Given the description of an element on the screen output the (x, y) to click on. 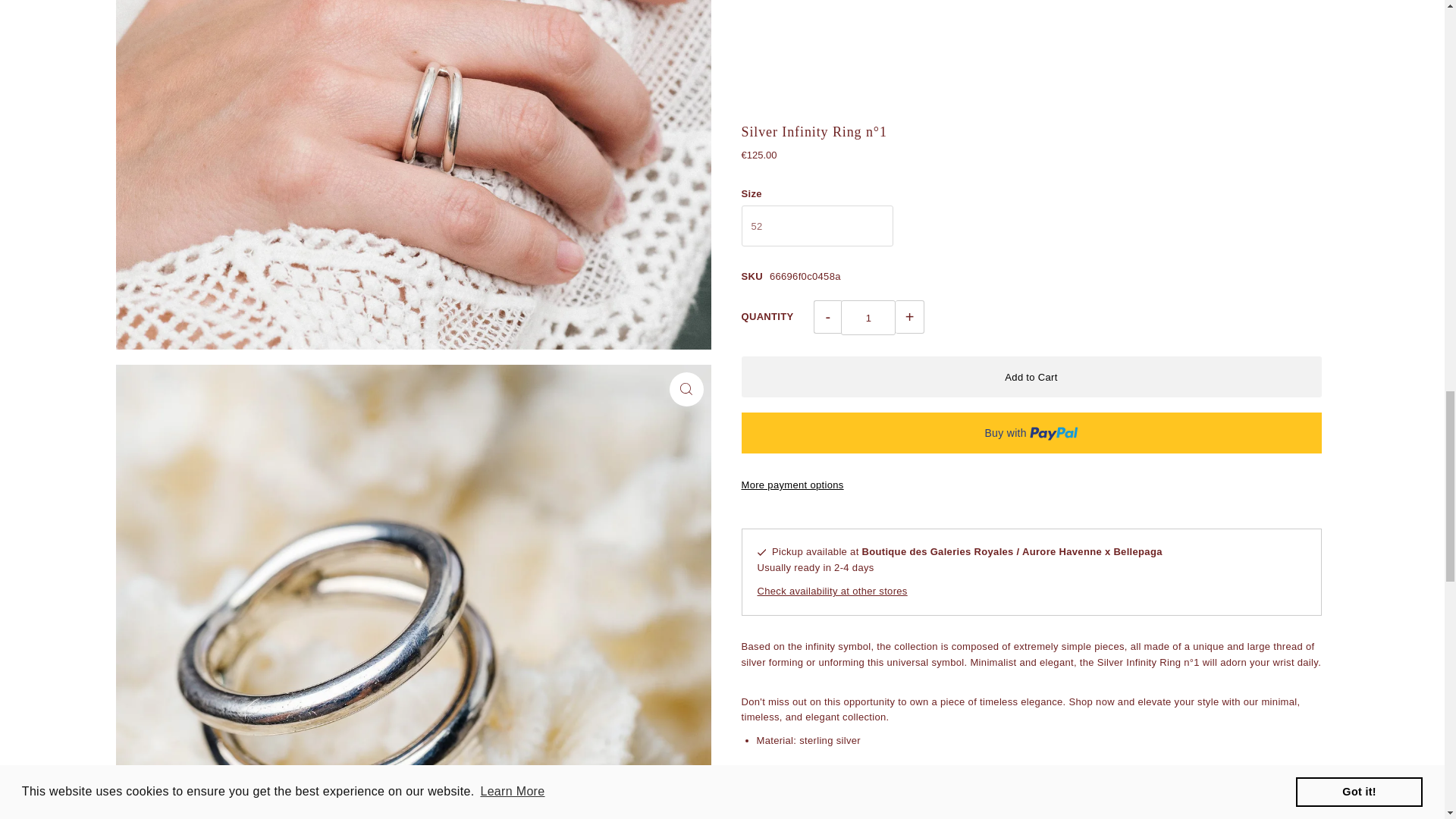
Click to zoom (685, 389)
